Given the description of an element on the screen output the (x, y) to click on. 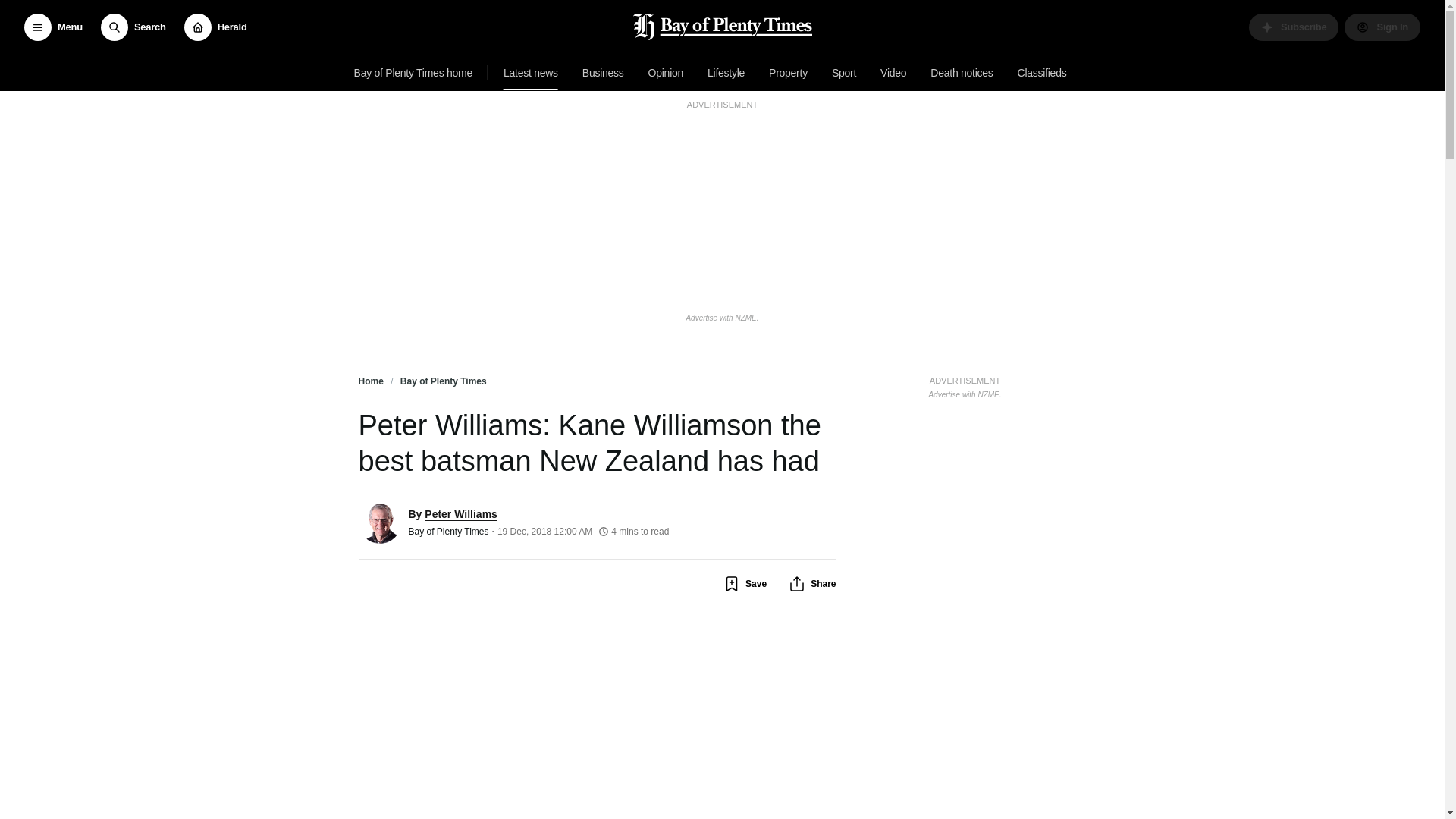
Herald (215, 26)
Sign In (1382, 26)
Property (788, 72)
Business (603, 72)
Manage your account (1382, 26)
Latest news (531, 72)
Subscribe (1294, 26)
Menu (53, 26)
Video (892, 72)
Bay of Plenty Times home (413, 72)
